Given the description of an element on the screen output the (x, y) to click on. 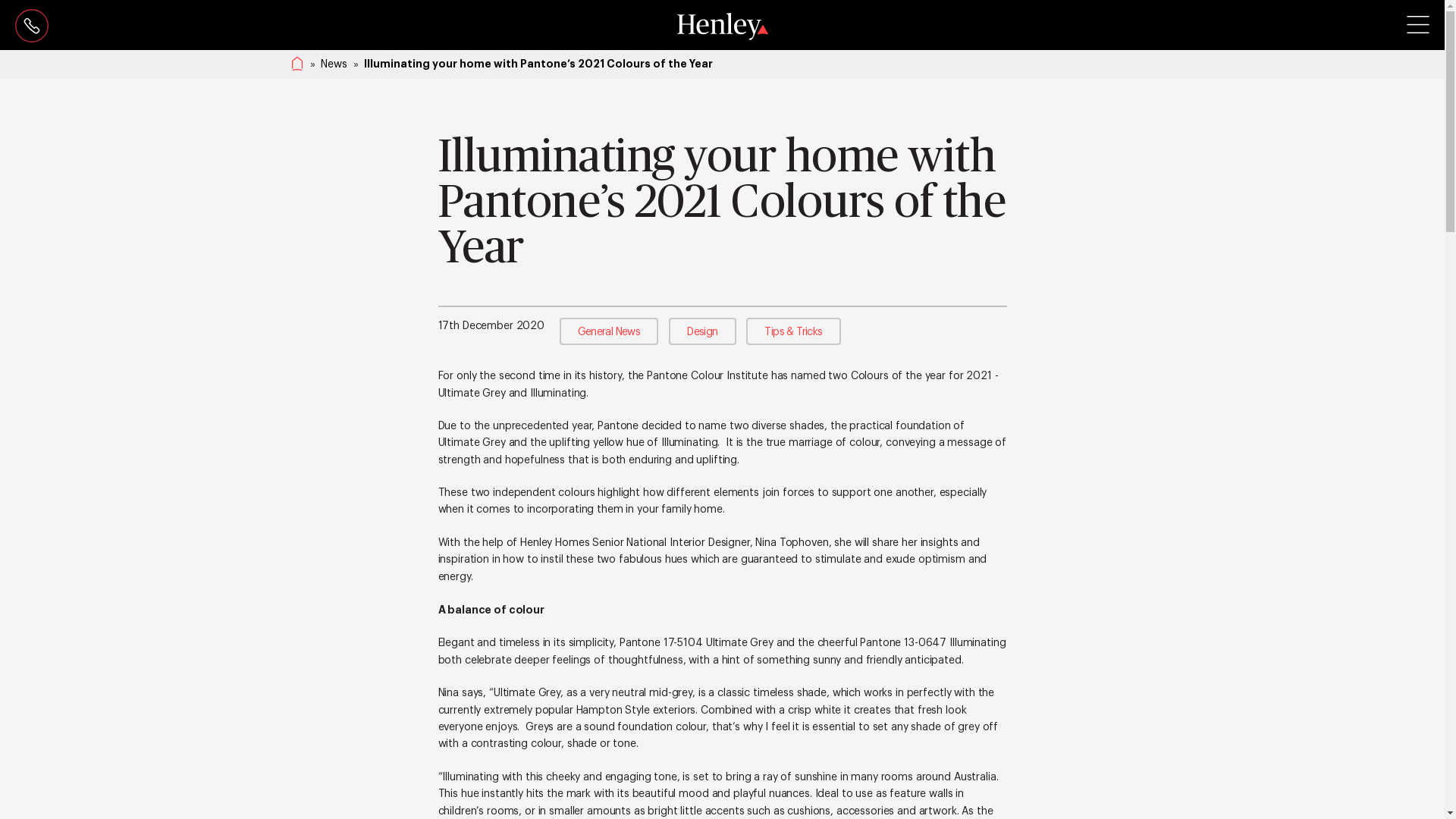
home Element type: text (296, 62)
General News Element type: text (608, 331)
Design Element type: text (701, 331)
Tips & Tricks Element type: text (793, 331)
News Element type: text (333, 64)
btn Element type: text (1417, 23)
